Given the description of an element on the screen output the (x, y) to click on. 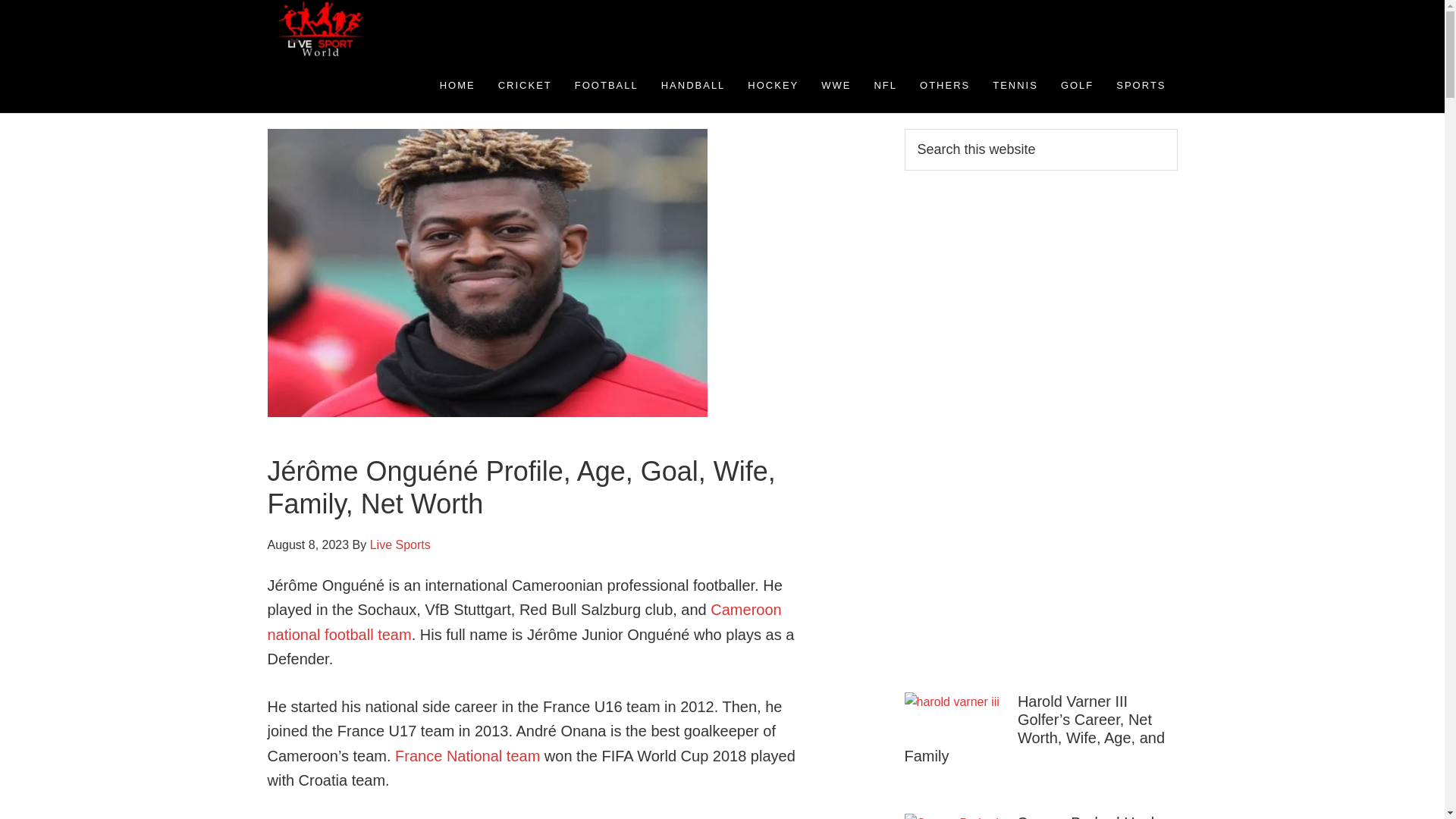
NFL (884, 85)
GOLF (1077, 85)
CRICKET (524, 85)
TENNIS (1015, 85)
HOCKEY (772, 85)
Cricket, Football, Handball, Hockey, Tennis, and WWE News (403, 28)
HANDBALL (692, 85)
Advertisement (1017, 428)
WWE (835, 85)
FOOTBALL (606, 85)
OTHERS (944, 85)
HOME (457, 85)
